Given the description of an element on the screen output the (x, y) to click on. 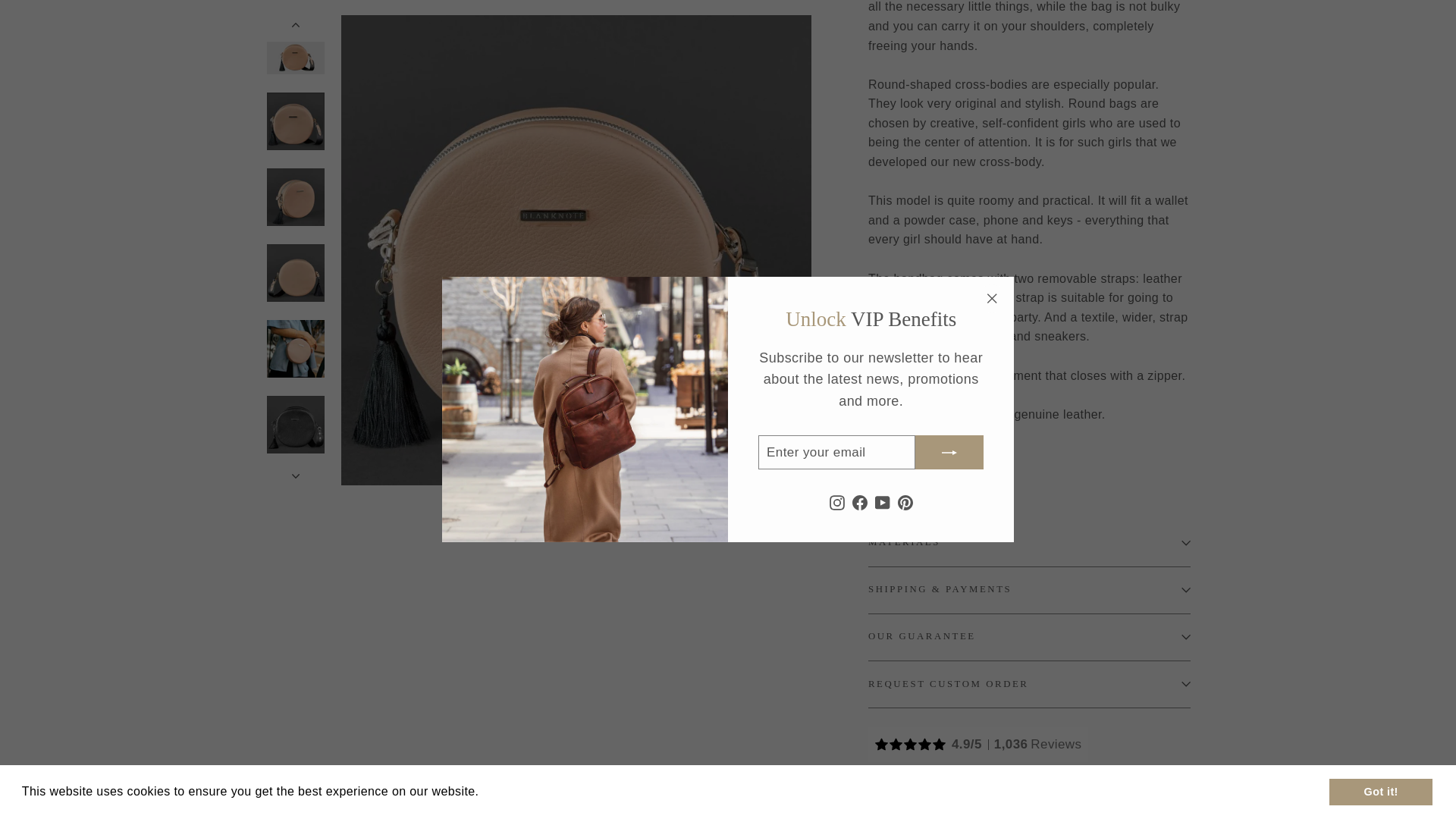
Tweet on Twitter (975, 802)
twitter (951, 802)
